Given the description of an element on the screen output the (x, y) to click on. 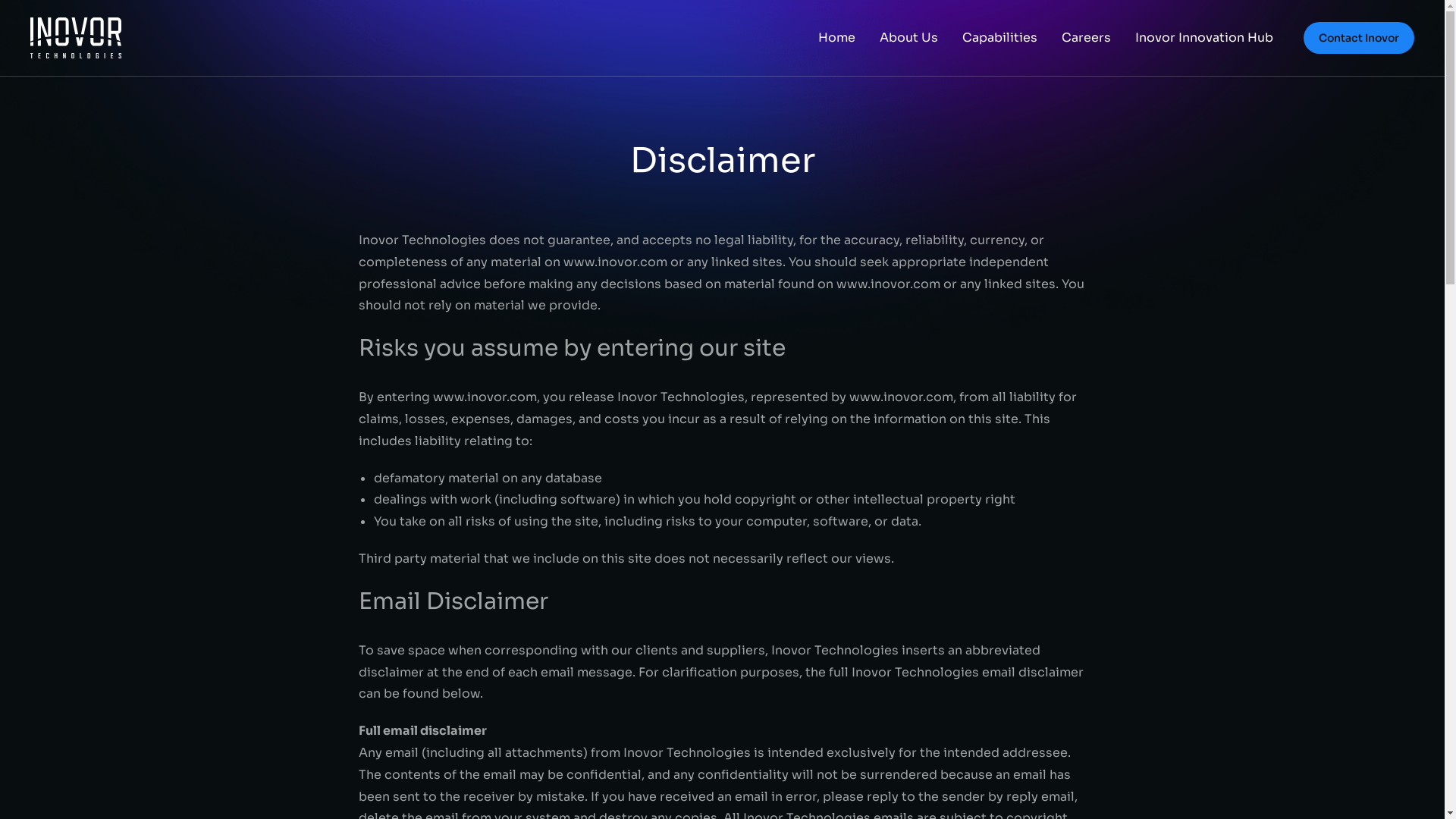
Careers Element type: text (1086, 37)
Contact Inovor Element type: text (1358, 37)
Inovor Innovation Hub Element type: text (1203, 37)
About Us Element type: text (908, 37)
Capabilities Element type: text (999, 37)
Home Element type: text (836, 37)
